Given the description of an element on the screen output the (x, y) to click on. 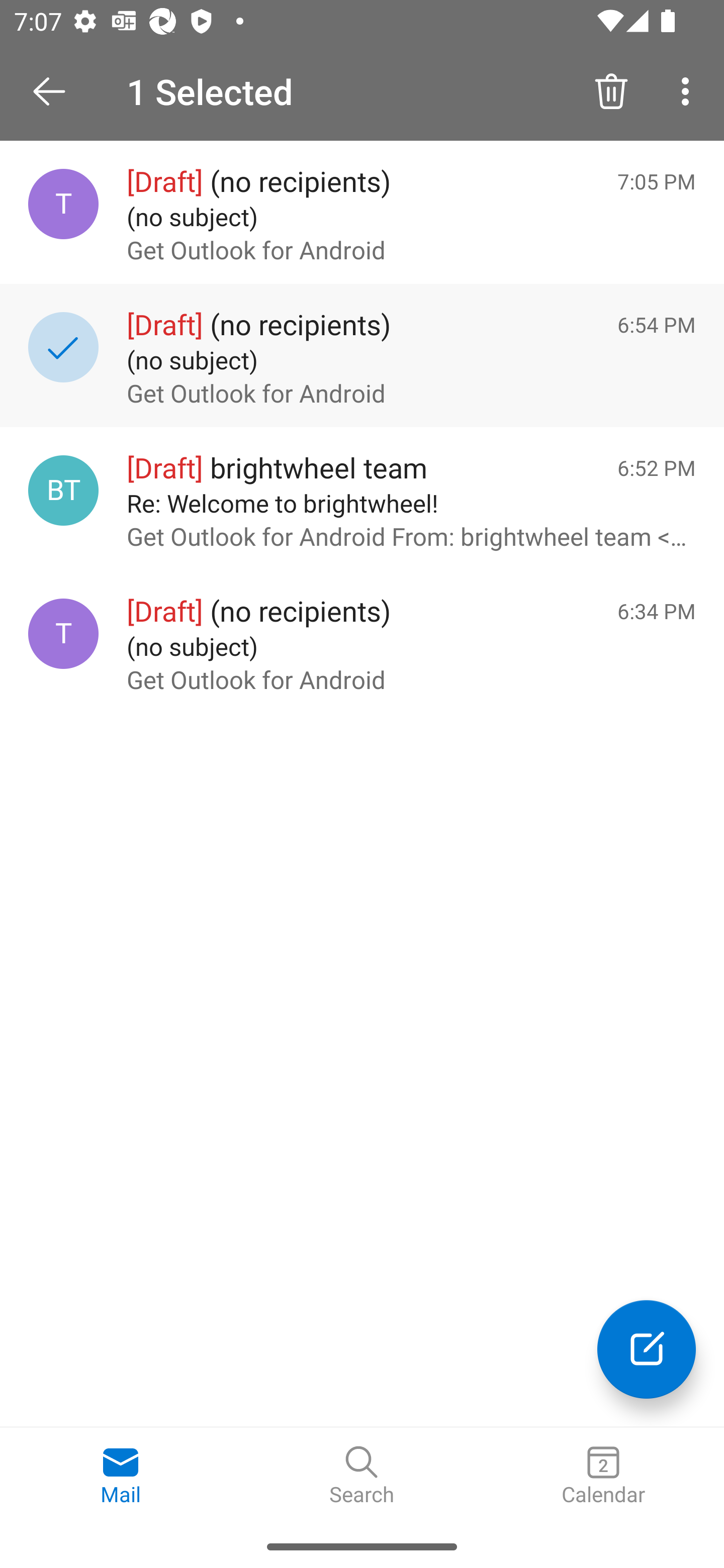
Delete (611, 90)
More options (688, 90)
Open Navigation Drawer (55, 91)
testappium001@outlook.com (63, 204)
brightwheel team, testappium001@outlook.com (63, 489)
testappium001@outlook.com (63, 633)
Compose (646, 1348)
Search (361, 1475)
Calendar (603, 1475)
